Given the description of an element on the screen output the (x, y) to click on. 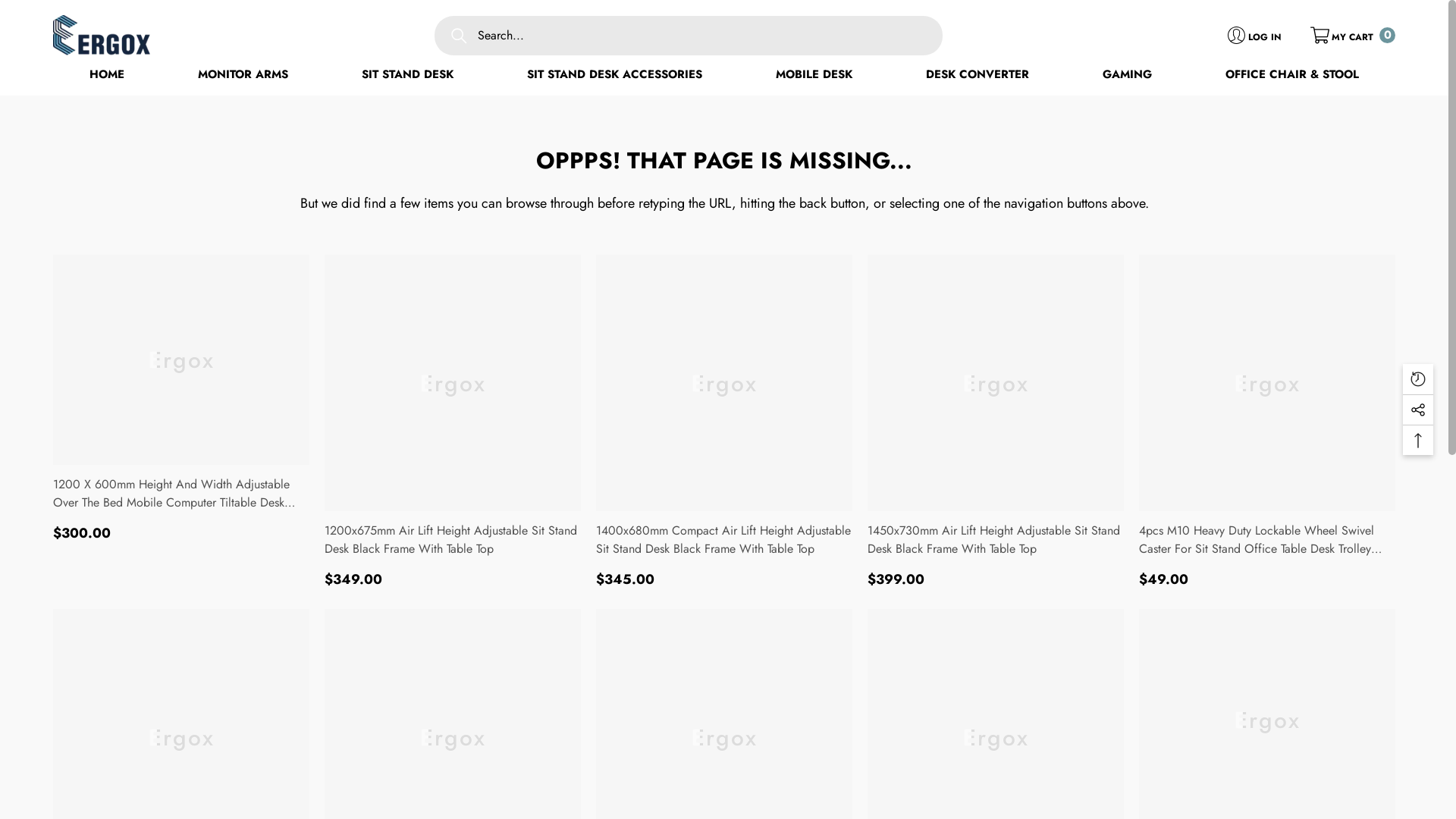
SIT STAND DESK ACCESSORIES Element type: text (614, 75)
GAMING Element type: text (1127, 75)
DESK CONVERTER Element type: text (977, 75)
OFFICE CHAIR & STOOL Element type: text (1292, 75)
LOG IN
Log in Element type: text (1253, 34)
HOME Element type: text (106, 75)
SIT STAND DESK Element type: text (407, 75)
MY CART
Cart
0
0 items Element type: text (1352, 34)
MONITOR ARMS Element type: text (242, 75)
MOBILE DESK Element type: text (813, 75)
